Given the description of an element on the screen output the (x, y) to click on. 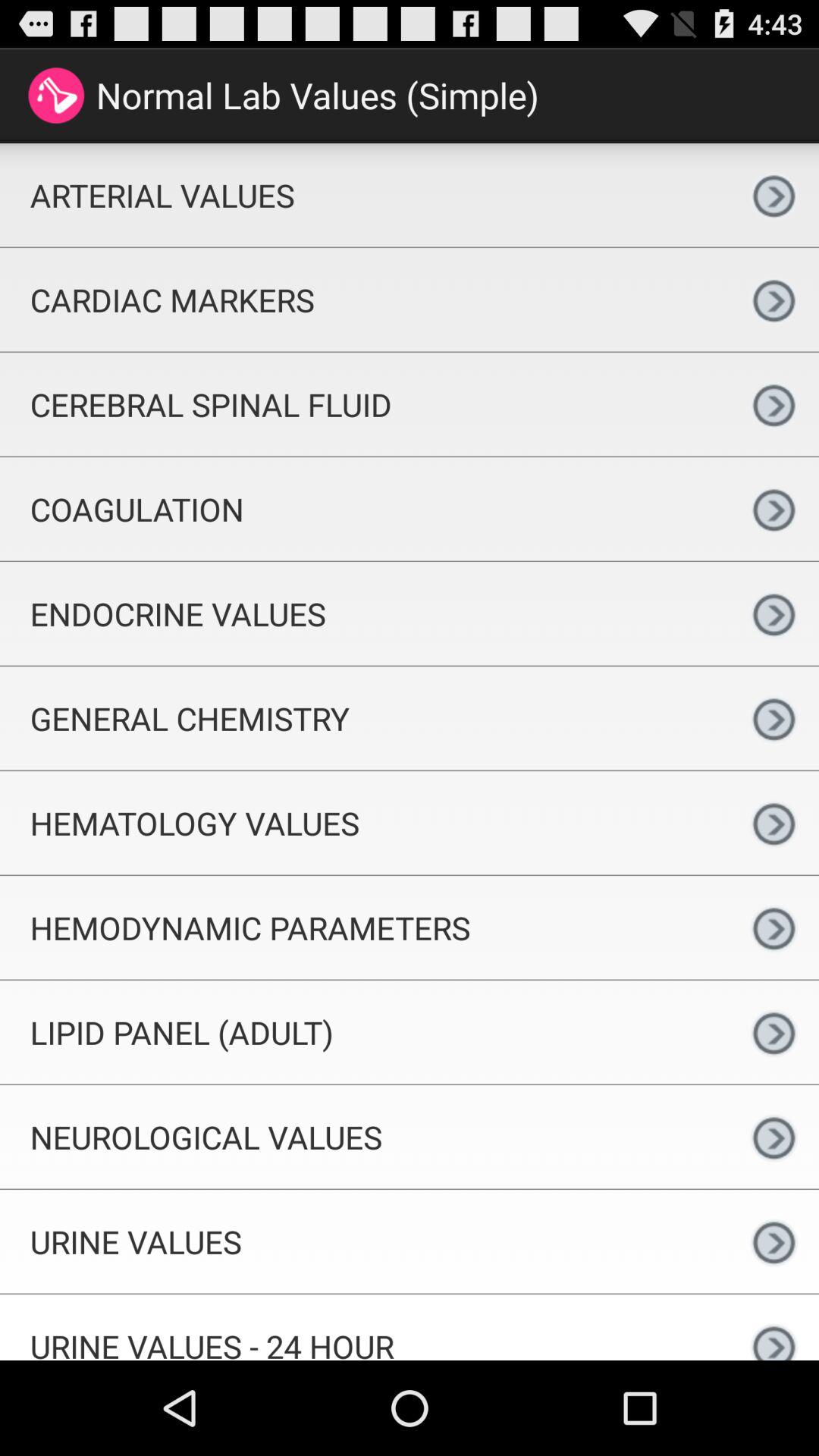
flip to the general chemistry item (364, 718)
